Given the description of an element on the screen output the (x, y) to click on. 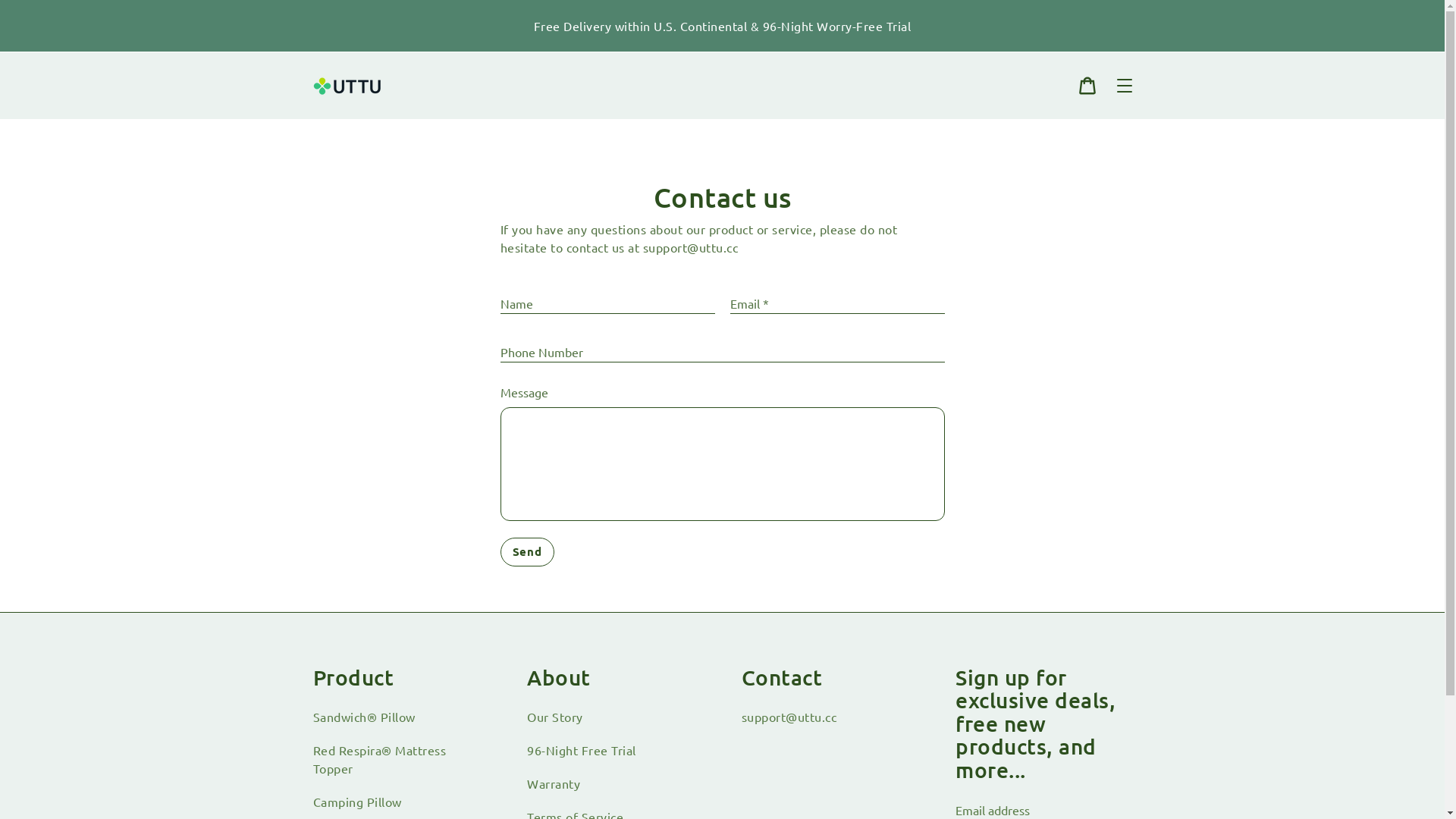
Camping Pillow Element type: text (356, 801)
Cart Element type: text (1087, 85)
96-Night Free Trial Element type: text (581, 749)
Send Element type: text (527, 551)
Our Story Element type: text (555, 716)
Warranty Element type: text (553, 782)
